Given the description of an element on the screen output the (x, y) to click on. 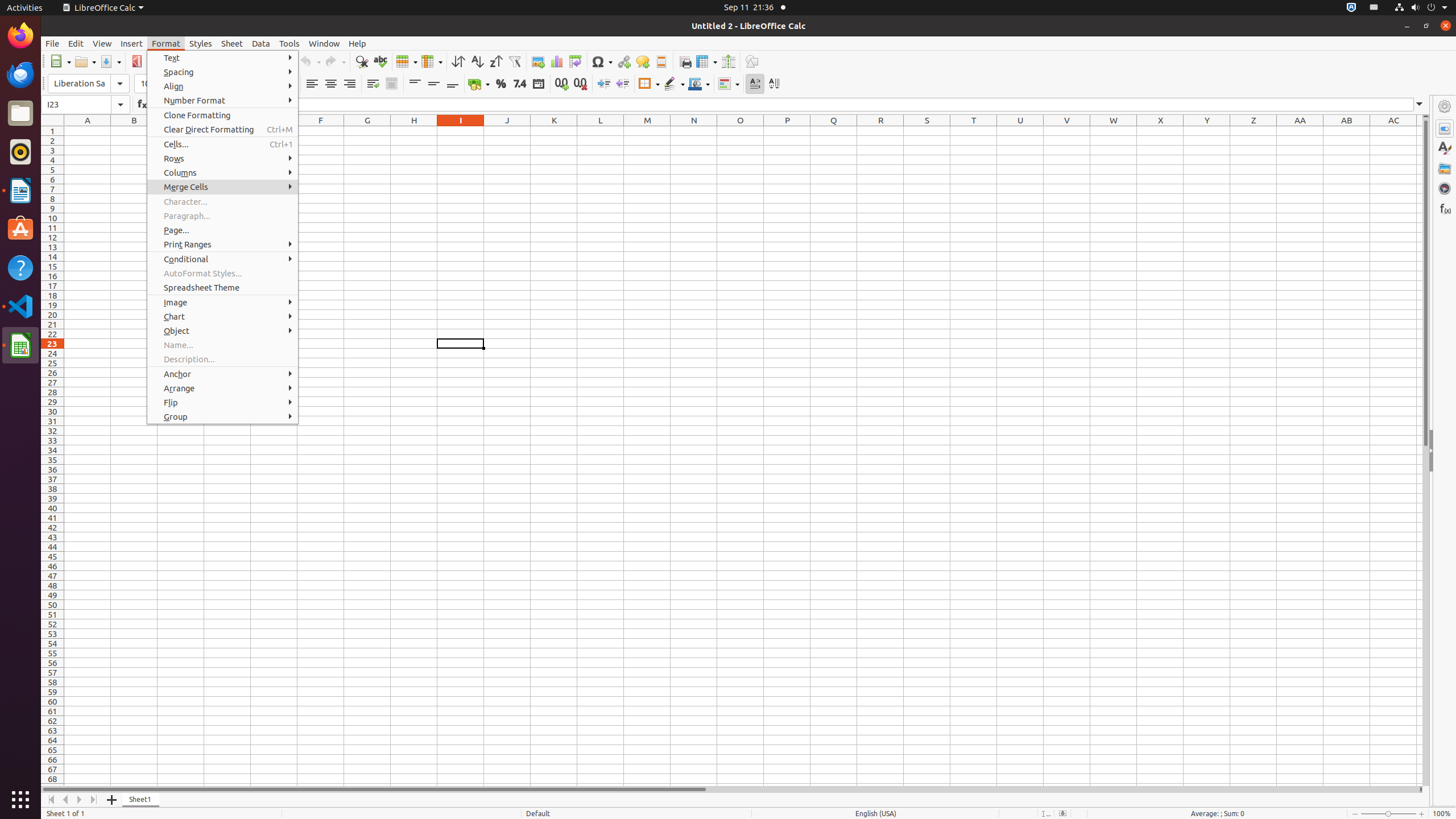
Format Element type: menu (165, 43)
Split Window Element type: push-button (727, 61)
Anchor Element type: menu (222, 373)
Conditional Element type: push-button (728, 83)
